Given the description of an element on the screen output the (x, y) to click on. 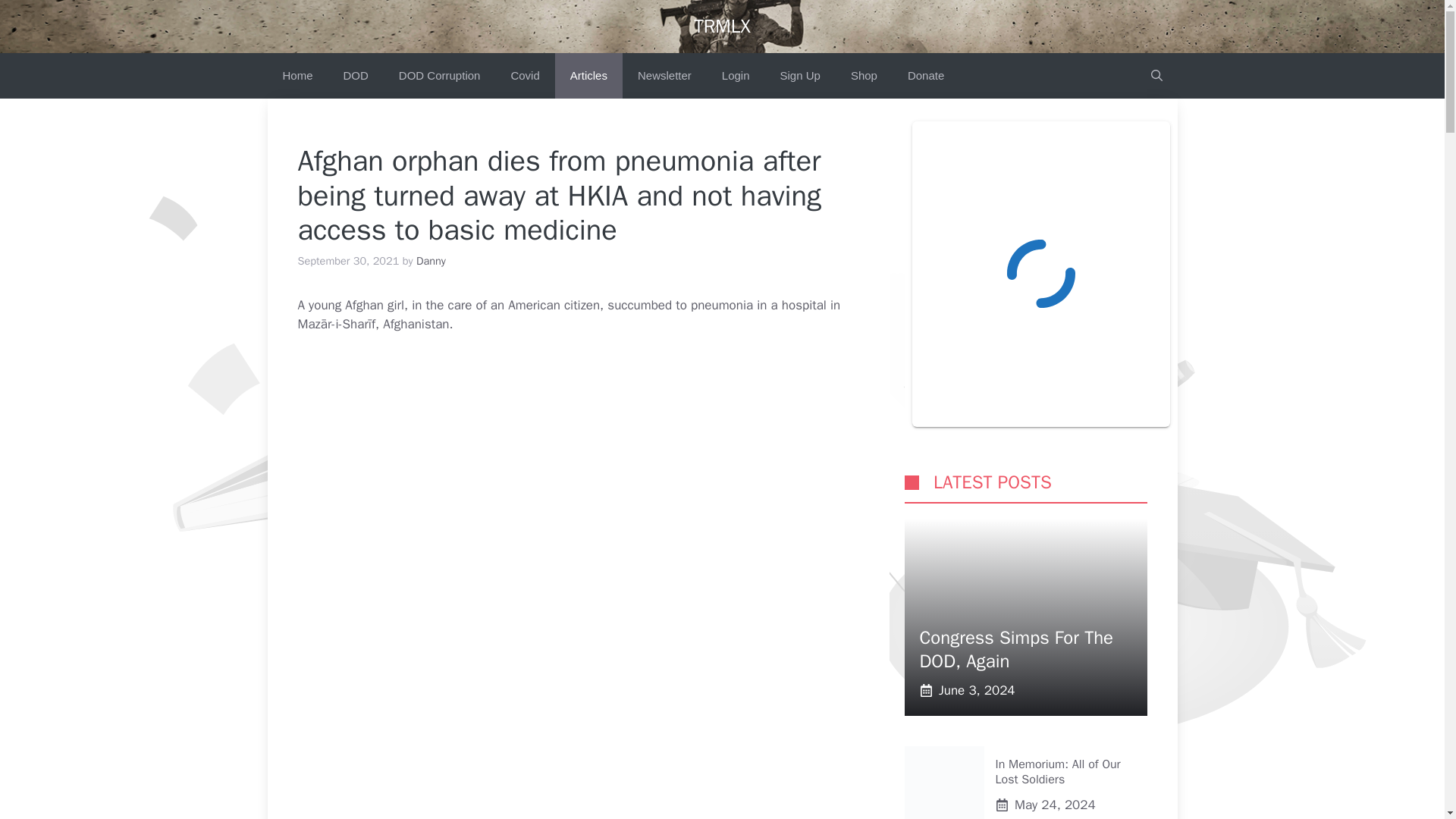
DOD (356, 75)
Articles (588, 75)
Shop (863, 75)
Home (296, 75)
SORRY, YOUR BROWSER DOES NOT SUPPORT INLINE SVG. (911, 481)
Newsletter (664, 75)
TRMLX (721, 25)
Sign Up (800, 75)
Donate (925, 75)
View all posts by Danny (430, 260)
Covid (524, 75)
Danny (430, 260)
Login (735, 75)
DOD Corruption (440, 75)
